Given the description of an element on the screen output the (x, y) to click on. 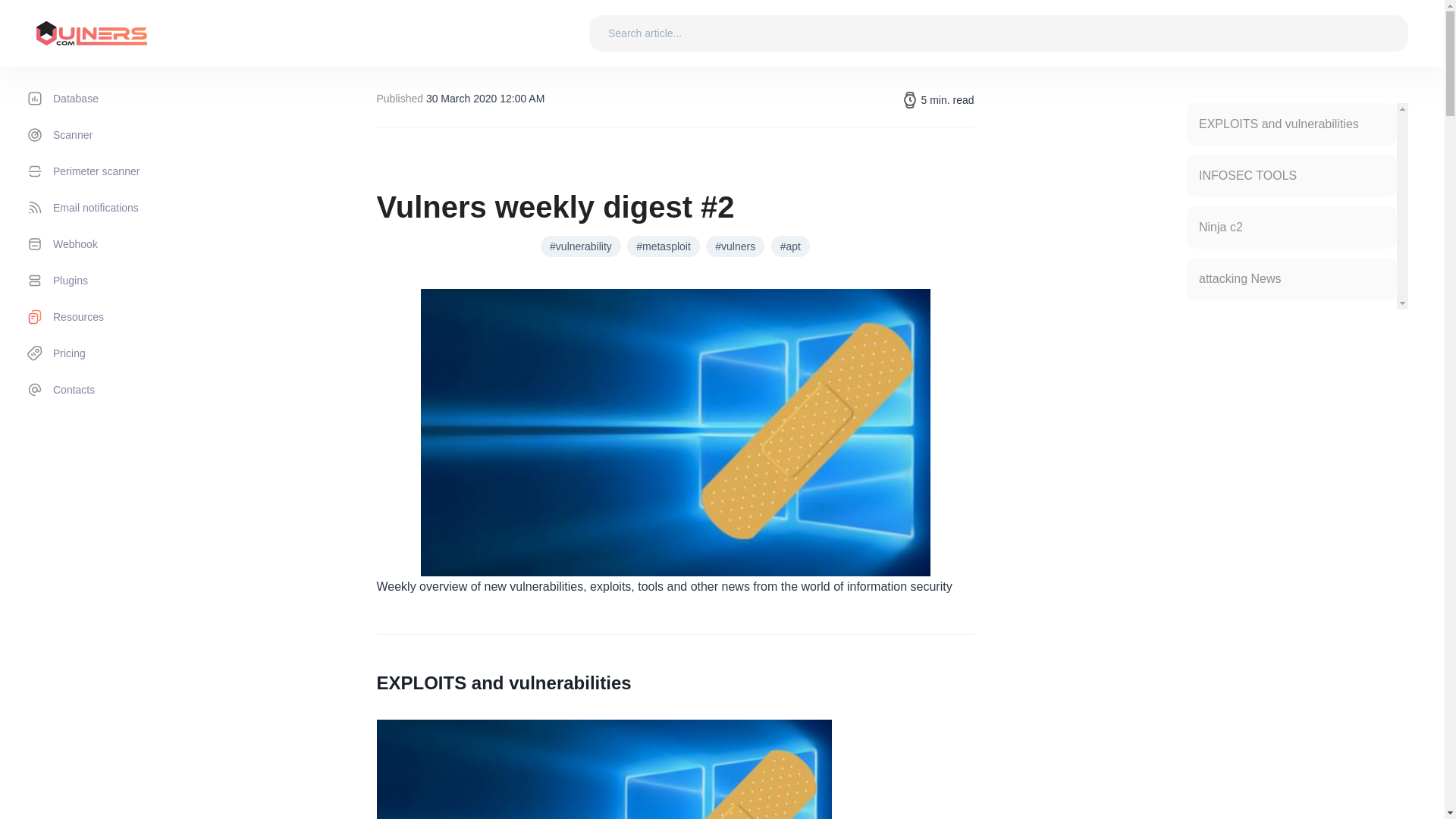
Webhook (107, 244)
Resources (107, 316)
Pricing (107, 352)
Database (107, 98)
Perimeter scanner (107, 171)
Email notifications (107, 207)
Scanner (107, 135)
Contacts (107, 389)
Plugins (107, 280)
